Given the description of an element on the screen output the (x, y) to click on. 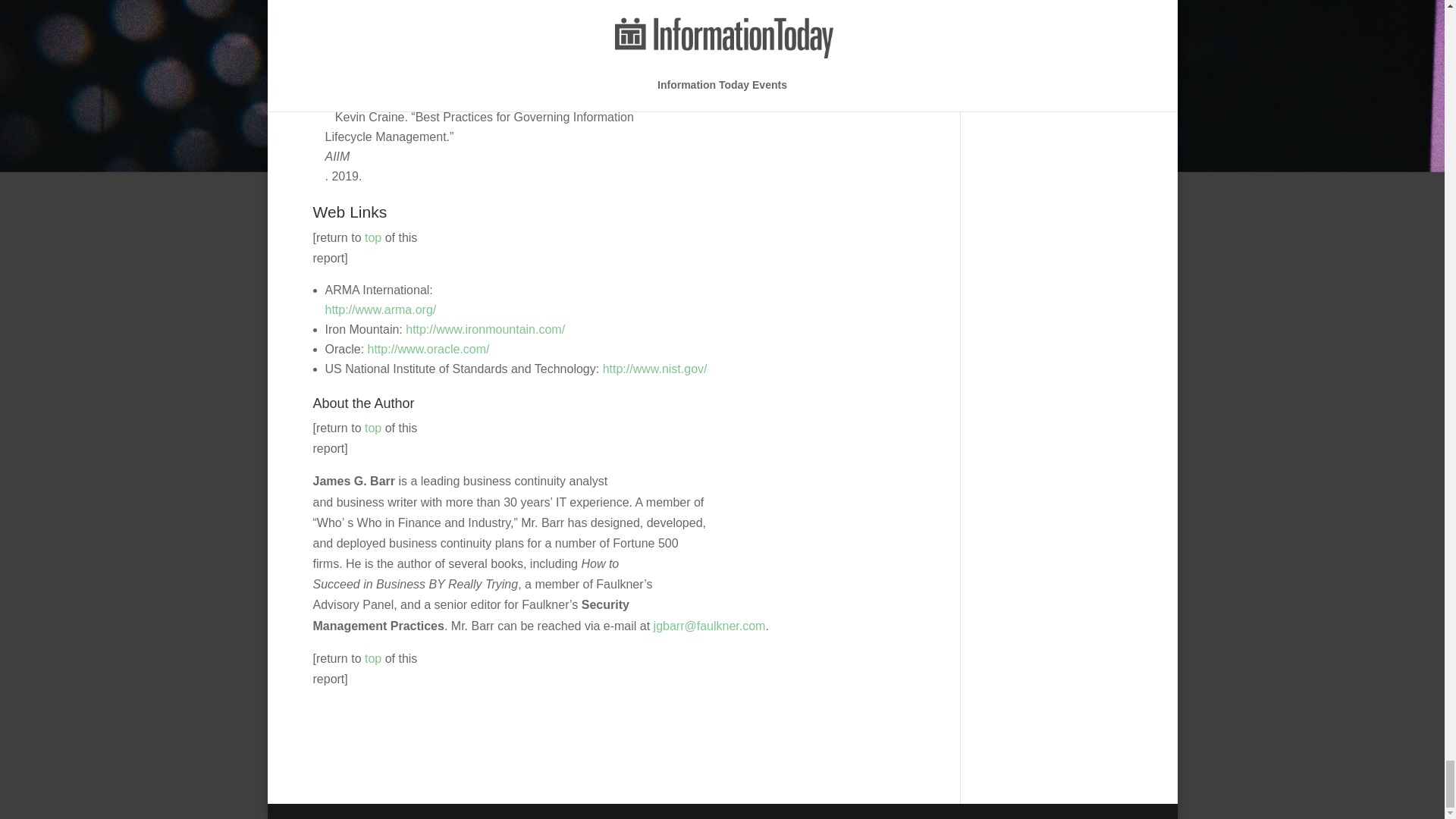
Return to top of page (373, 237)
Return to top of page (373, 427)
top (373, 658)
top (373, 427)
Return to top of page (373, 658)
top (373, 237)
